Given the description of an element on the screen output the (x, y) to click on. 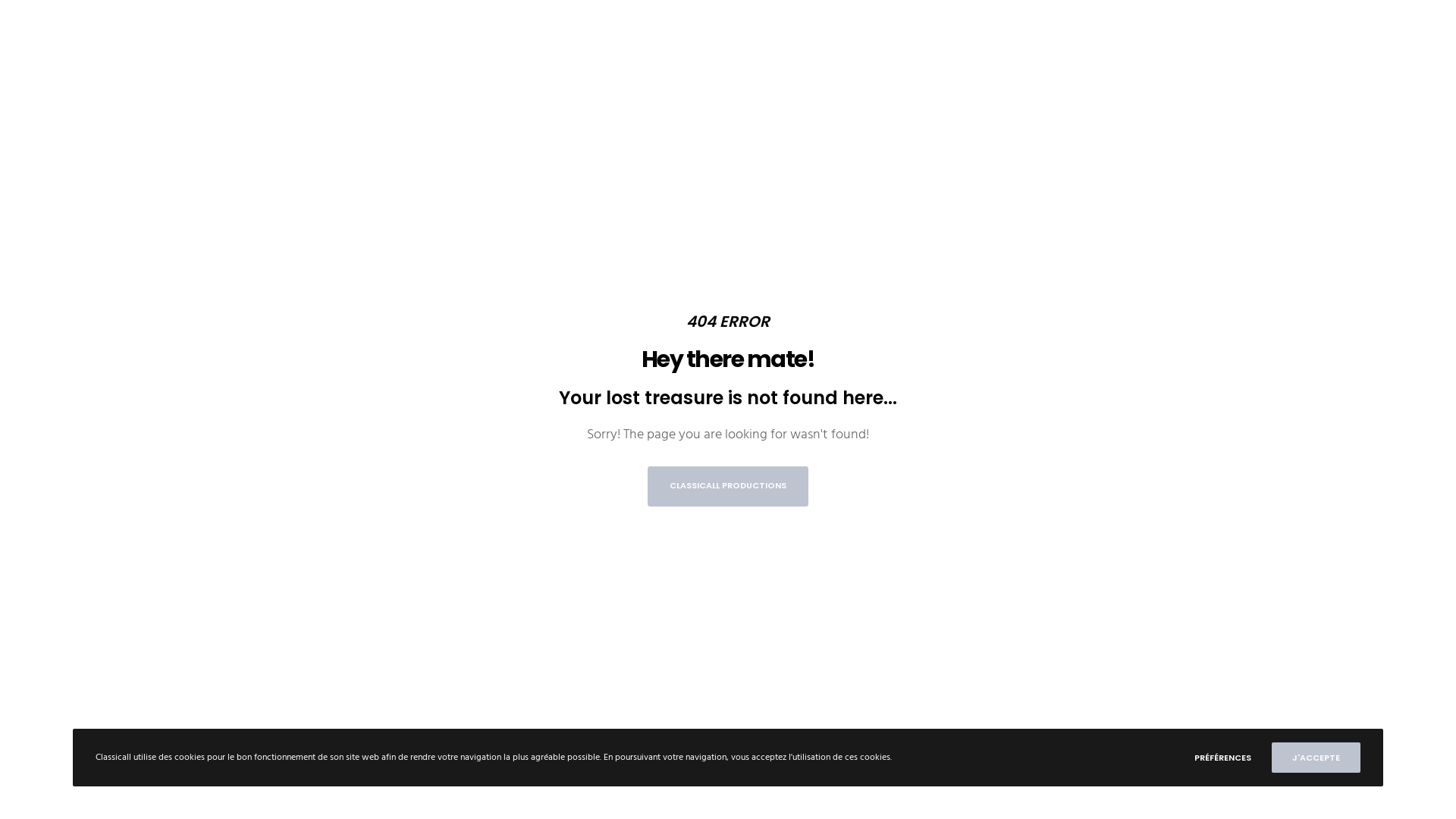
J'ACCEPTE Element type: text (1315, 757)
CLASSICALL PRODUCTIONS Element type: text (727, 485)
